Given the description of an element on the screen output the (x, y) to click on. 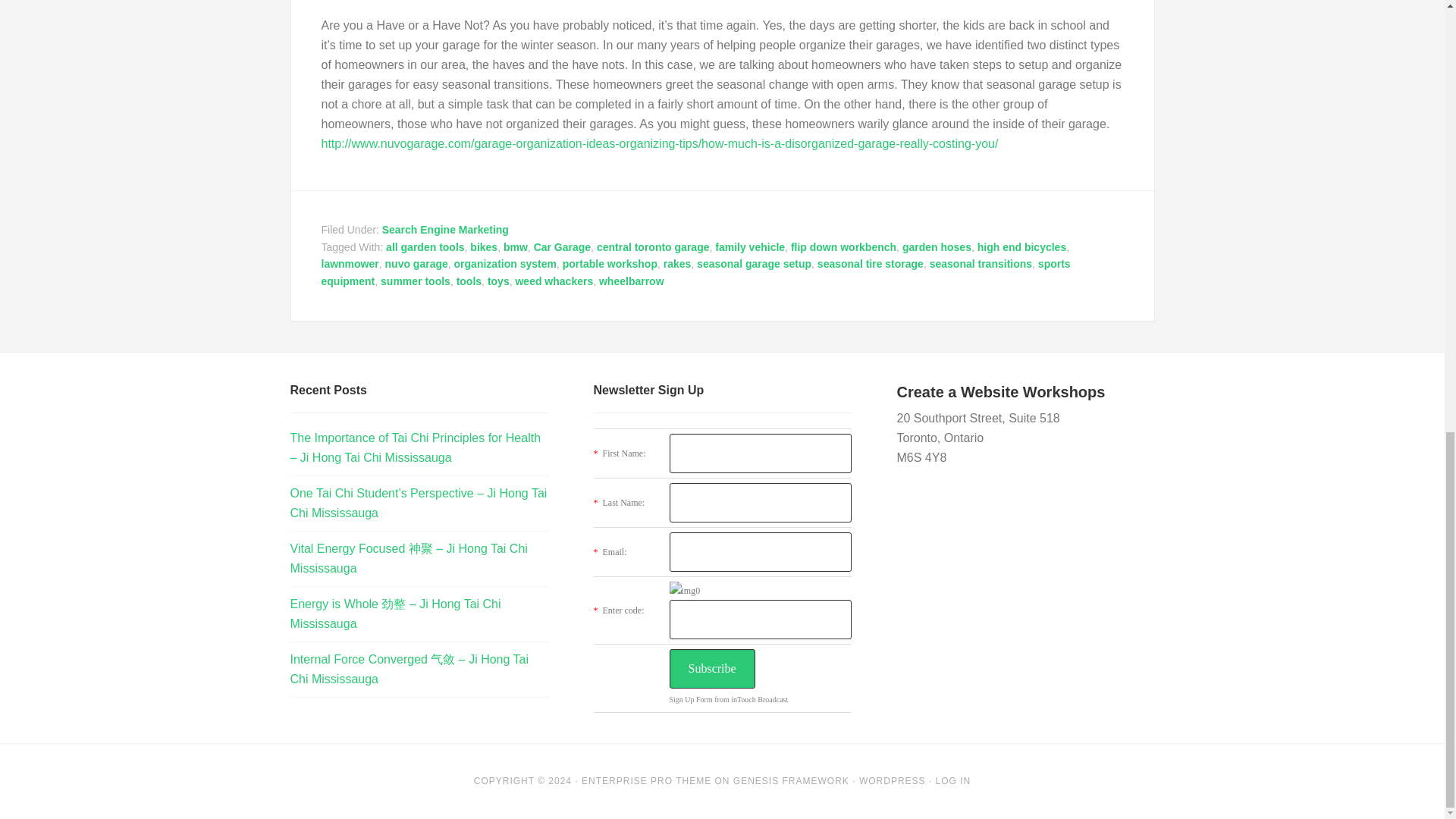
Subscribe (711, 668)
